Given the description of an element on the screen output the (x, y) to click on. 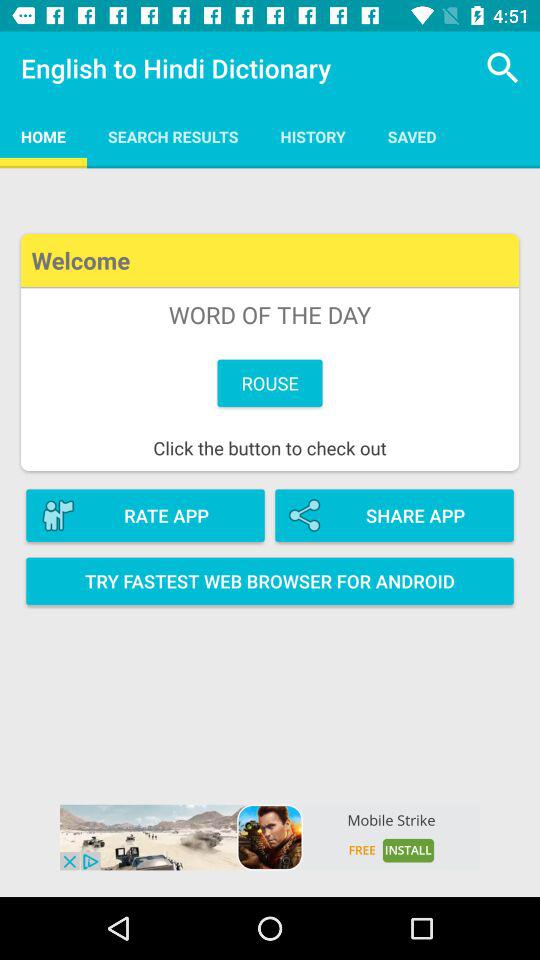
mobile strike advertisement (270, 837)
